Given the description of an element on the screen output the (x, y) to click on. 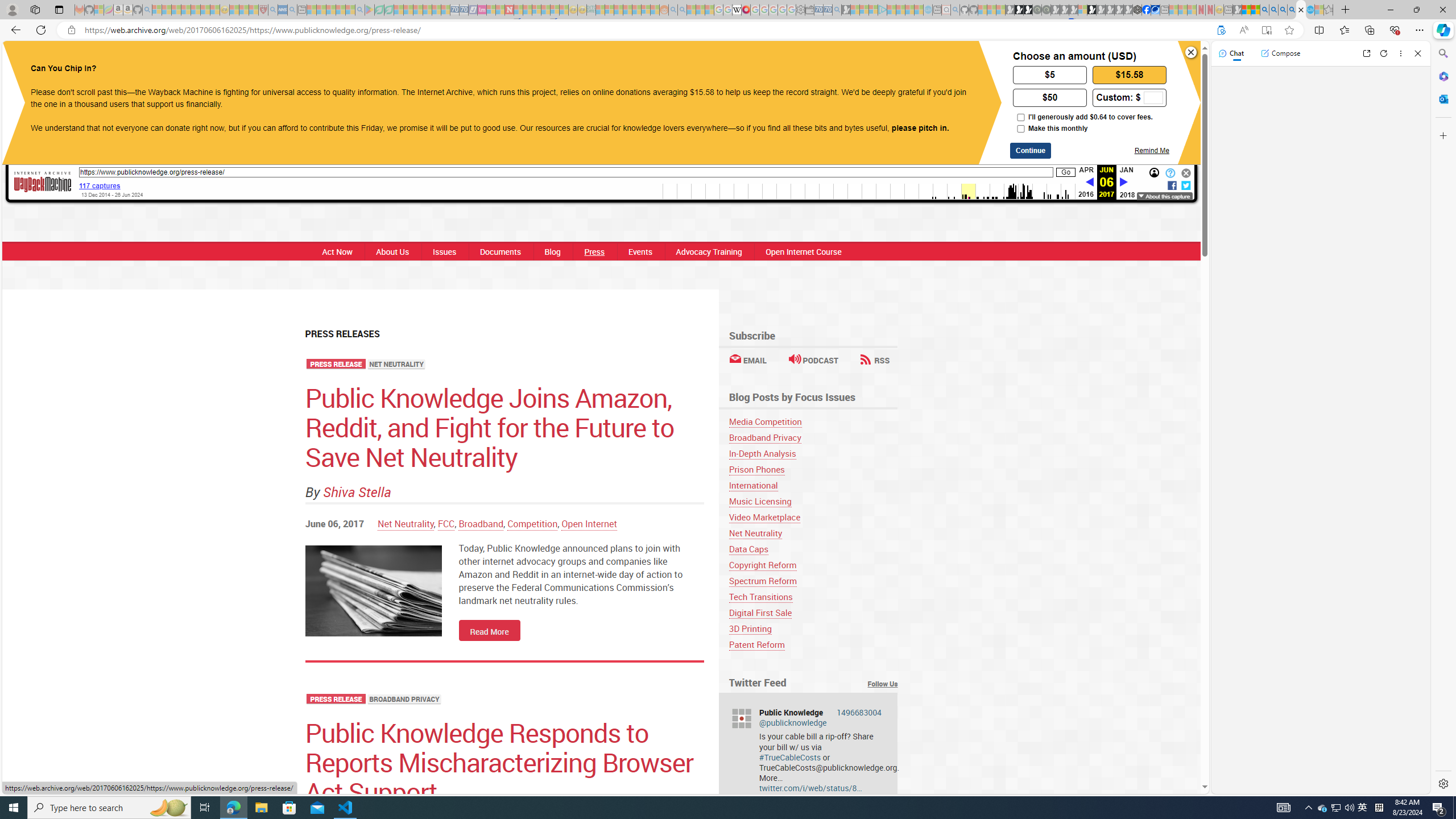
Remind Me (1151, 150)
RSS (874, 360)
DONATE (829, 60)
AutomationID: wm-sparkline-canvas (868, 191)
1496683004 (859, 712)
Previous capture (1088, 182)
Act Now (334, 251)
Follow Us (882, 683)
